Given the description of an element on the screen output the (x, y) to click on. 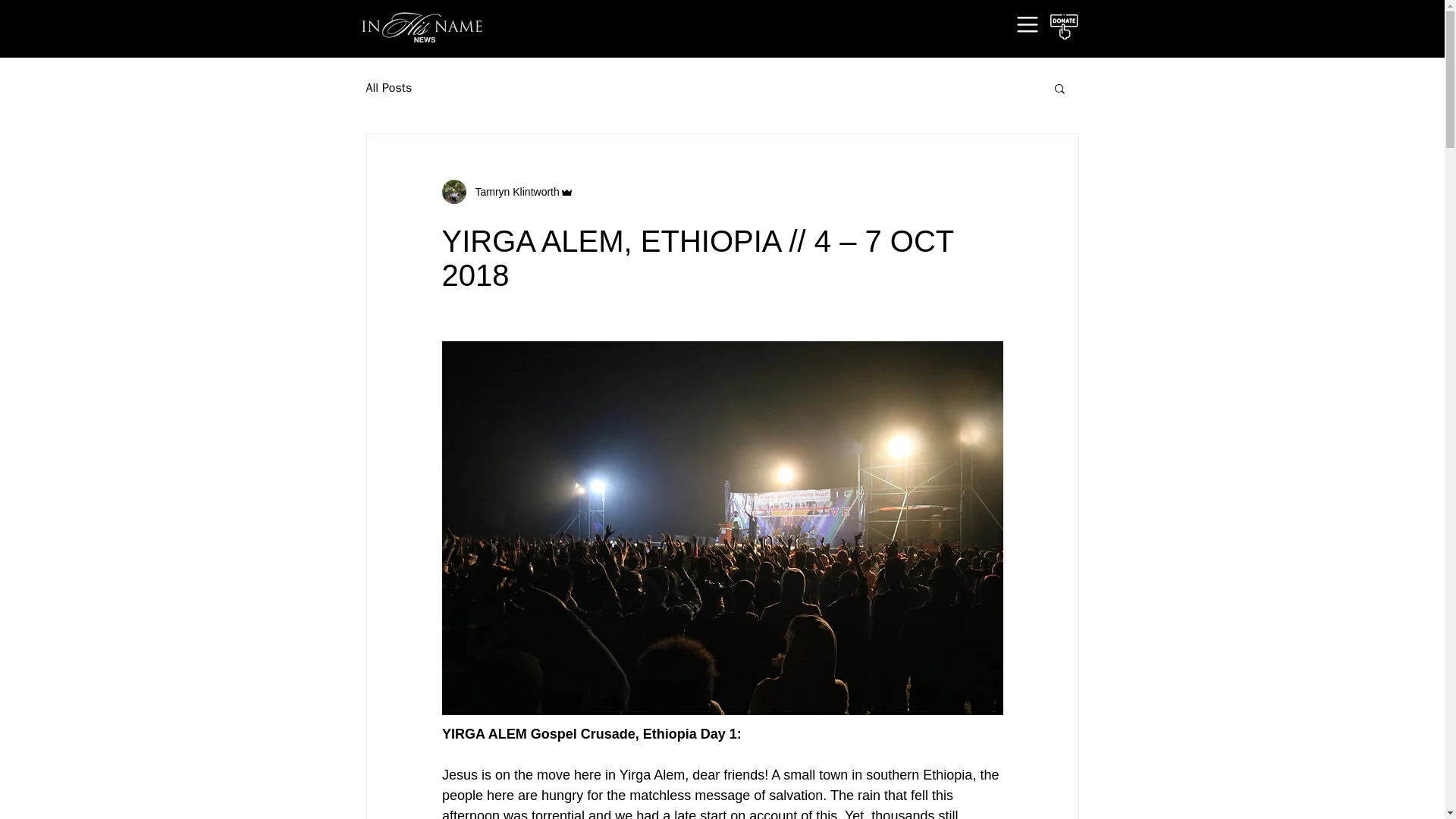
All Posts (388, 88)
Tamryn Klintworth (512, 191)
Tamryn Klintworth (507, 191)
